Given the description of an element on the screen output the (x, y) to click on. 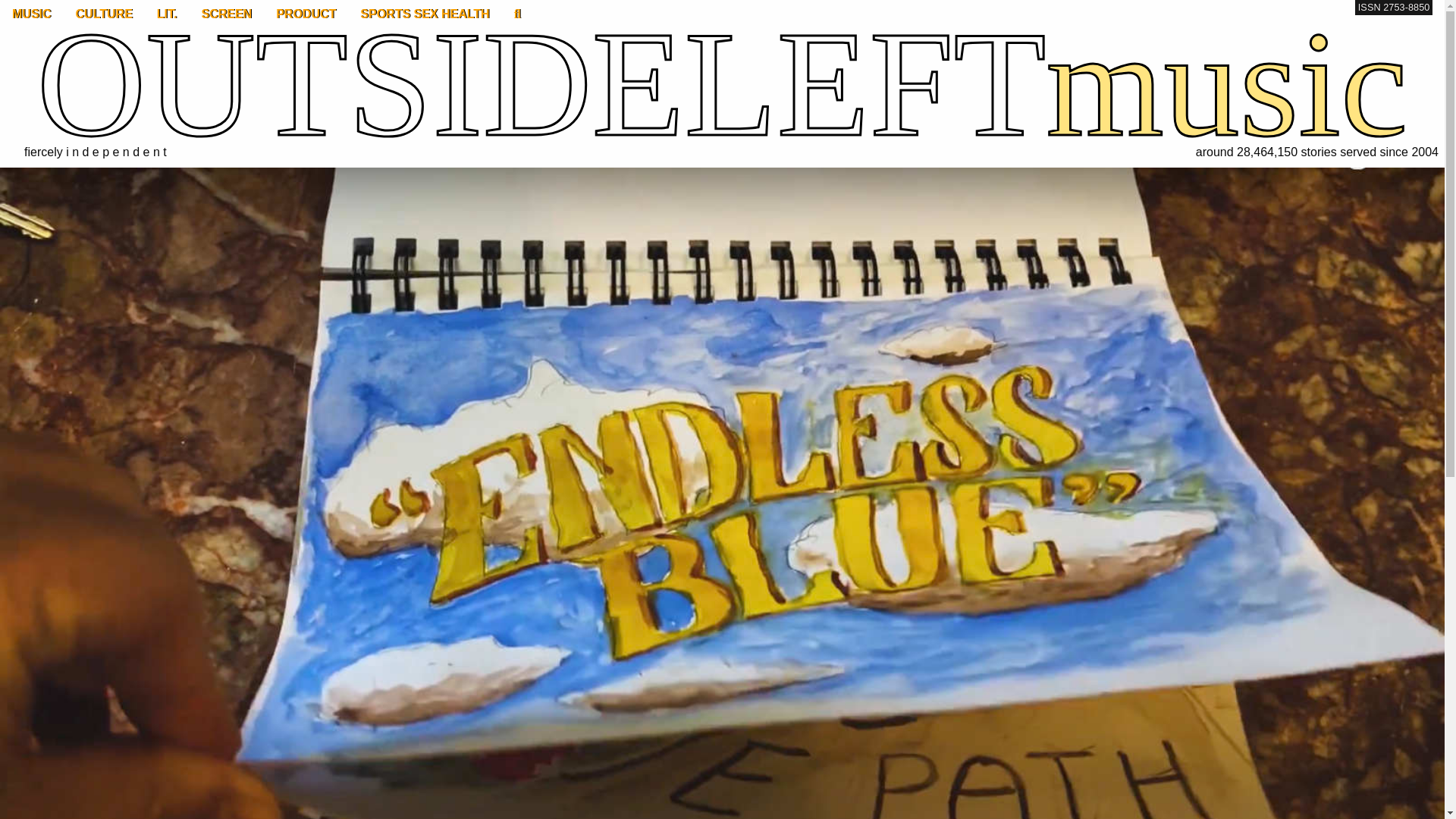
LIT. (166, 14)
MUSIC (32, 14)
SPORTS SEX HEALTH (423, 14)
SCREEN (226, 14)
PRODUCT (305, 14)
CULTURE (104, 14)
